Given the description of an element on the screen output the (x, y) to click on. 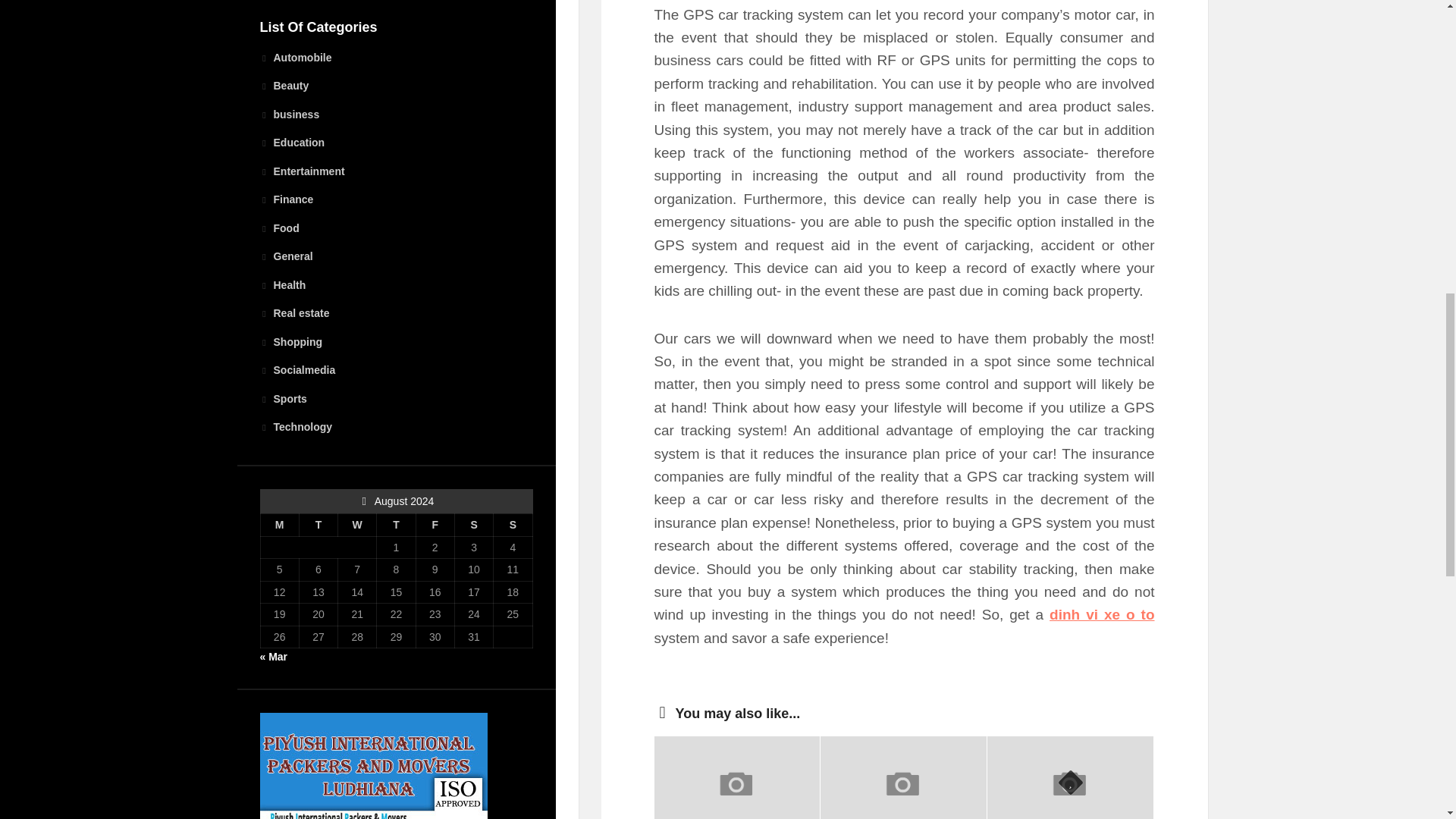
business (288, 114)
Food (278, 227)
Real estate (294, 313)
Sunday (512, 525)
Education (291, 142)
Sports (282, 398)
Thursday (395, 525)
Wednesday (357, 525)
dinh vi xe o to (1101, 614)
Beauty (283, 85)
